Given the description of an element on the screen output the (x, y) to click on. 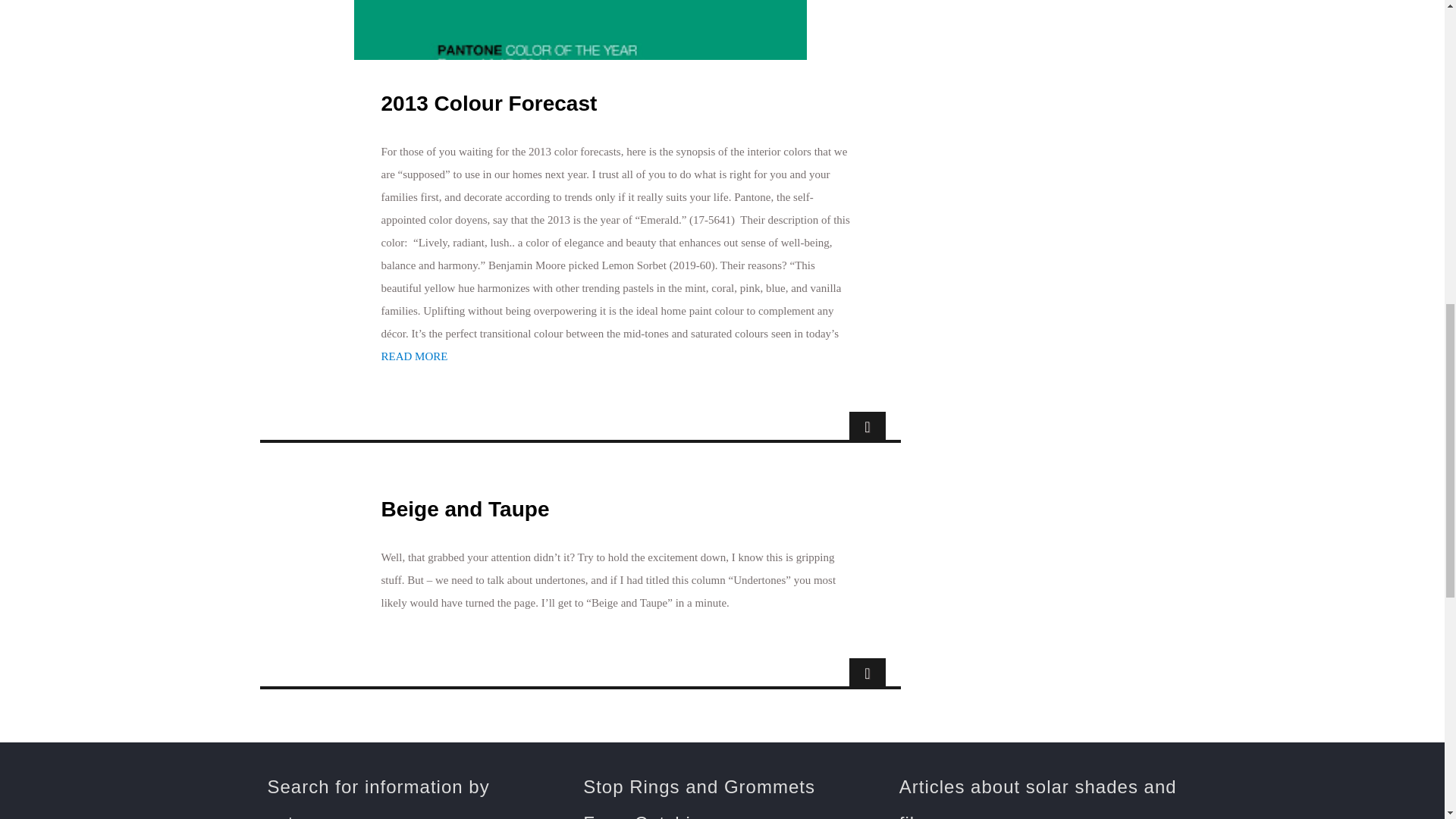
2013 Colour Forecast (488, 103)
Beige and Taupe (464, 509)
READ MORE (413, 355)
